Given the description of an element on the screen output the (x, y) to click on. 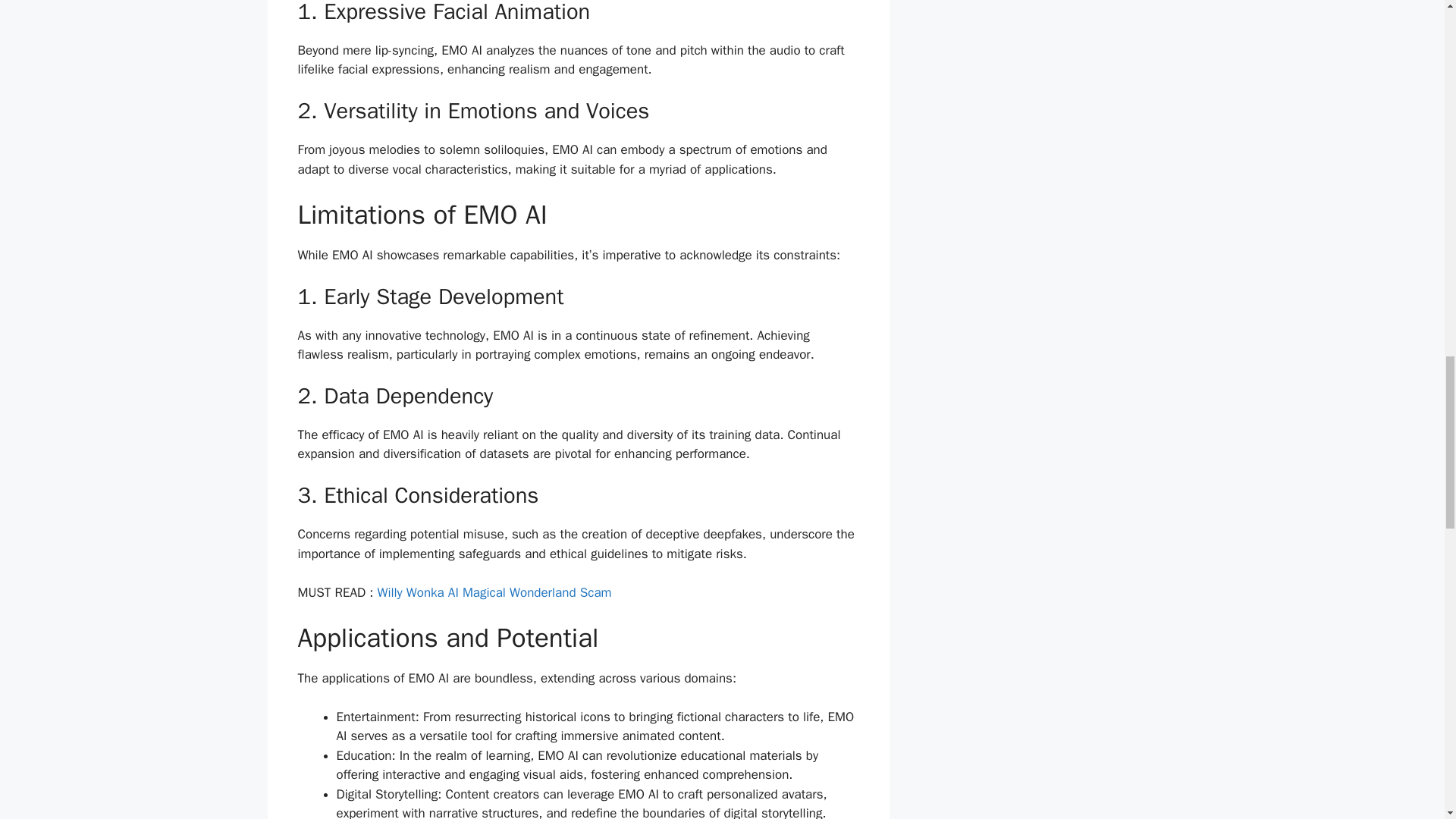
Willy Wonka AI Magical Wonderland Scam (494, 592)
